Given the description of an element on the screen output the (x, y) to click on. 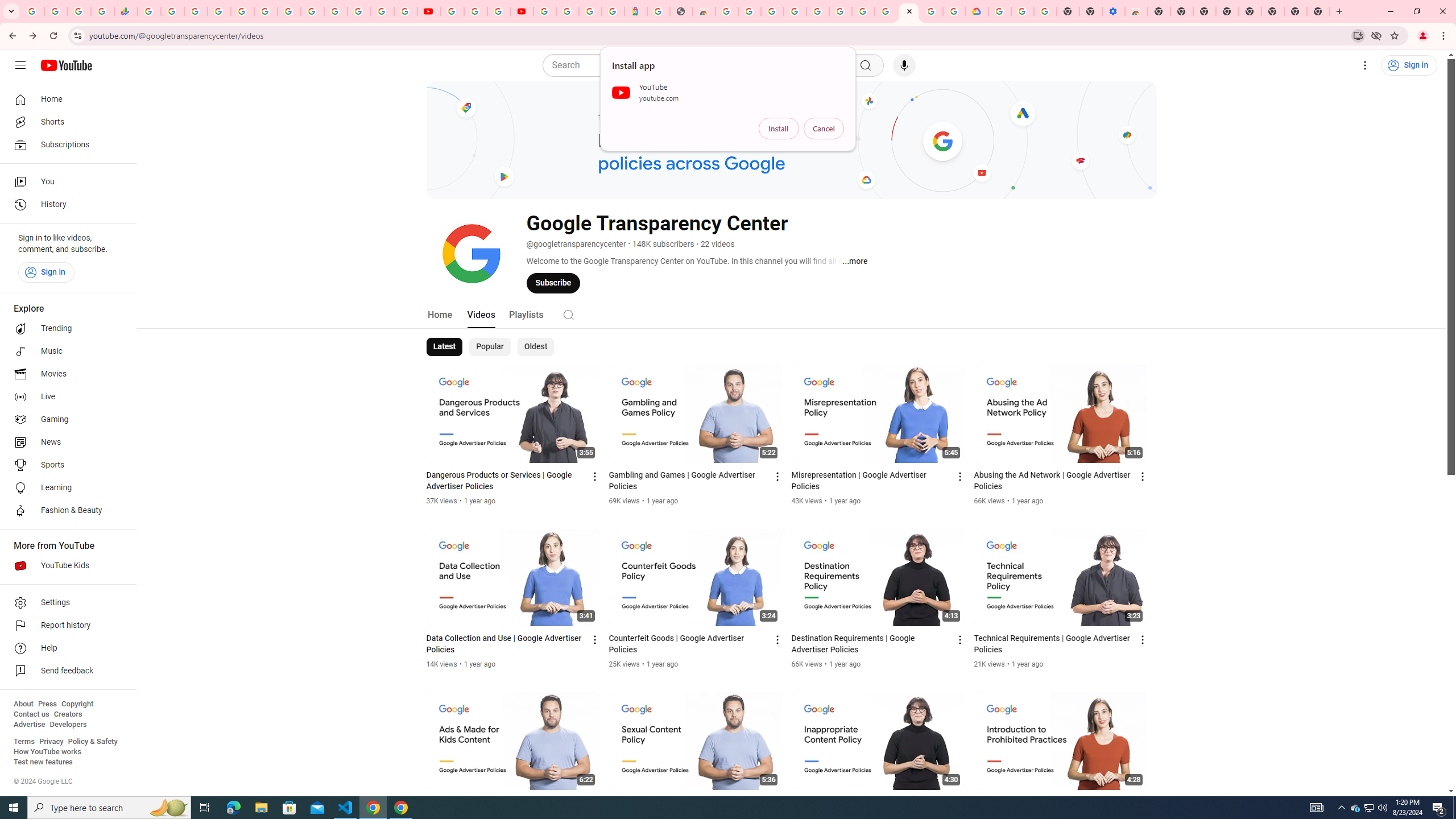
Sign in - Google Accounts (817, 11)
Guide (20, 65)
Browse the Google Chrome Community - Google Chrome Community (954, 11)
Atour Hotel - Google hotels (635, 11)
Trending (64, 328)
Contact us (31, 714)
YouTube (428, 11)
Live (64, 396)
